Given the description of an element on the screen output the (x, y) to click on. 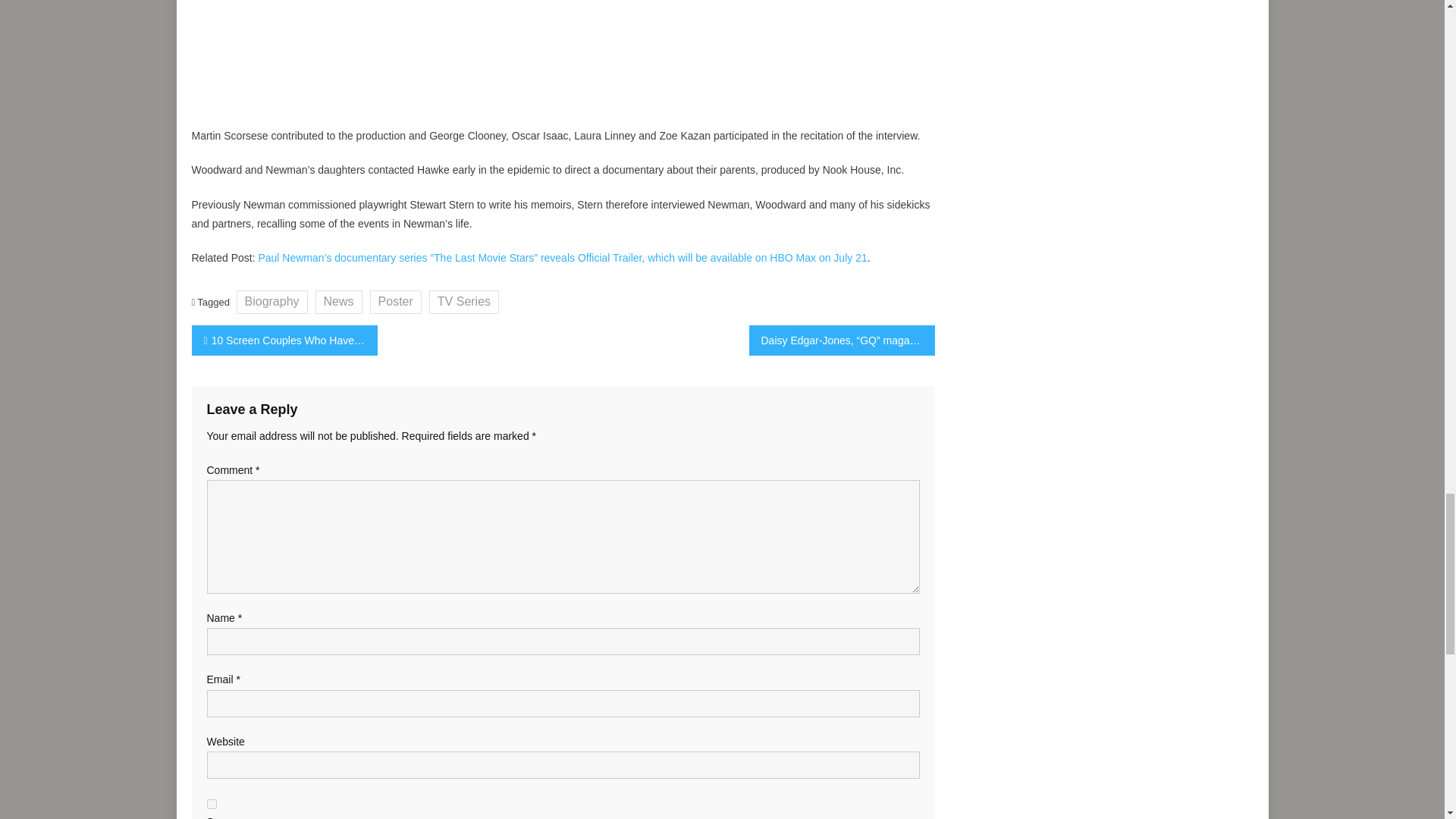
Biography (271, 301)
TV Series (464, 301)
yes (210, 804)
News (338, 301)
Poster (395, 301)
10 Screen Couples Who Have No Chemistry at All (283, 340)
